Given the description of an element on the screen output the (x, y) to click on. 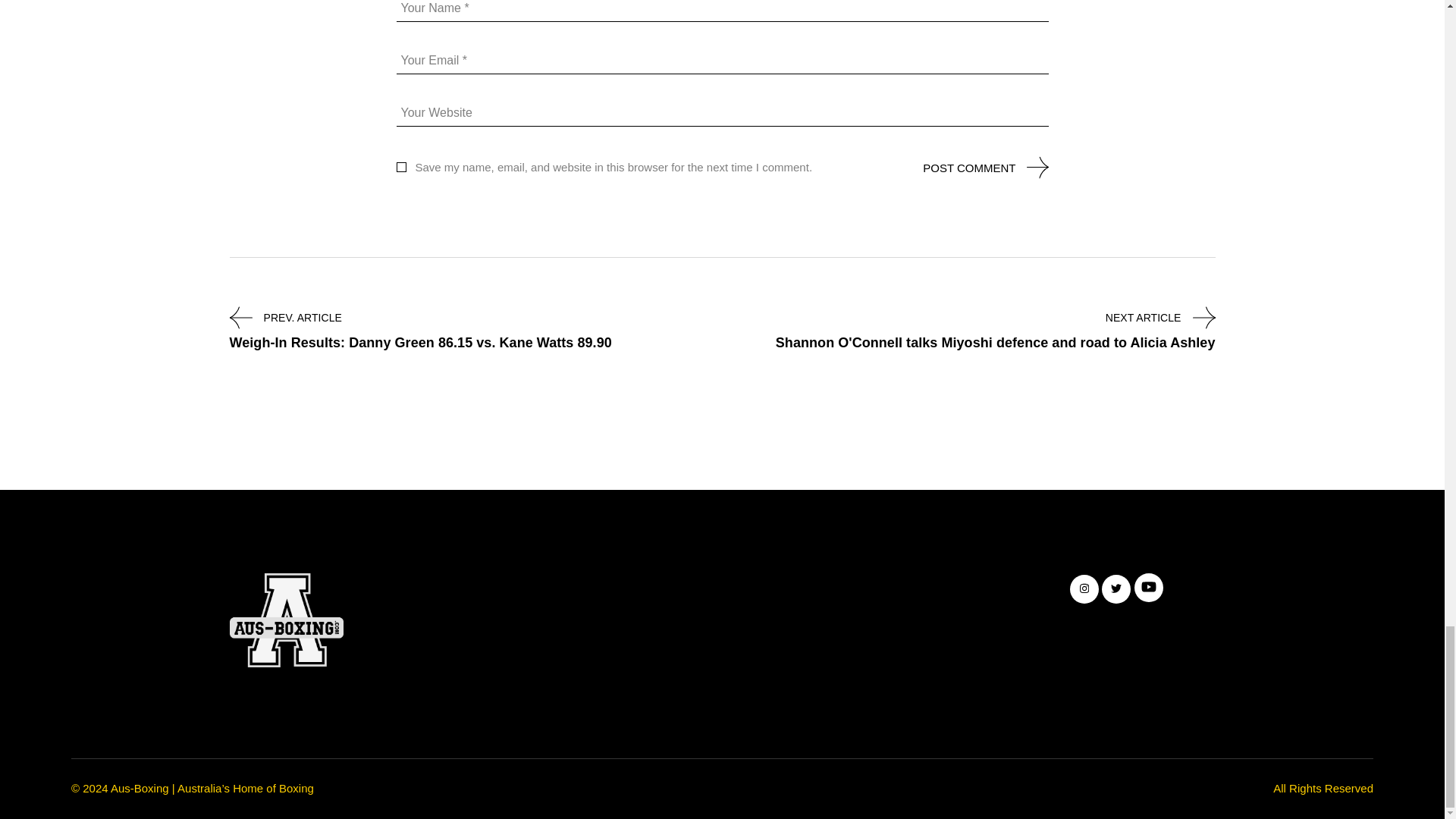
yes (401, 166)
POST COMMENT (968, 167)
